Given the description of an element on the screen output the (x, y) to click on. 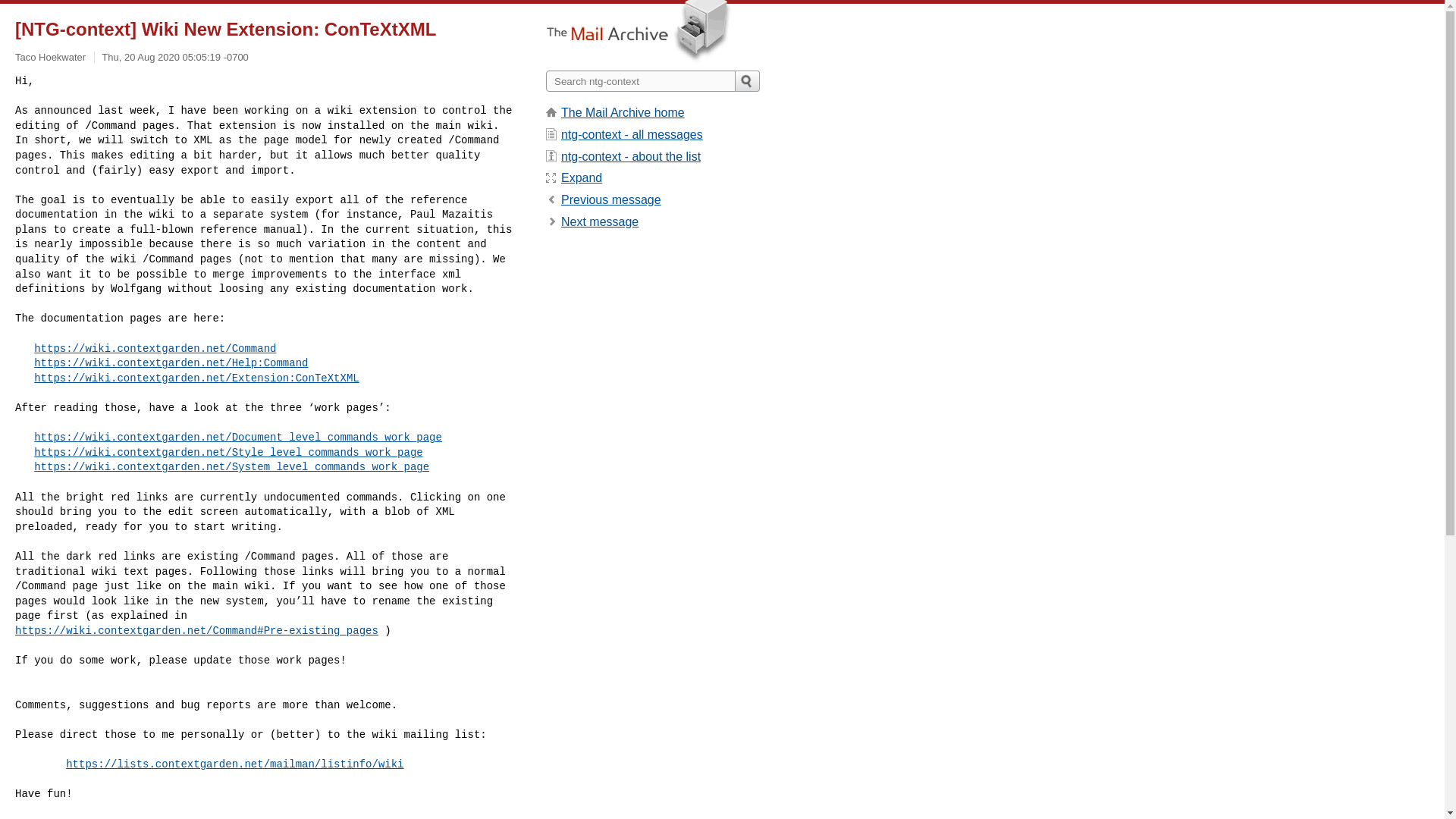
Expand (581, 177)
p (610, 199)
Thu, 20 Aug 2020 05:05:19 -0700 (174, 57)
n (599, 221)
Taco Hoekwater (49, 57)
The Mail Archive home (622, 112)
Next message (599, 221)
ntg-context - about the list (630, 155)
ntg-context - all messages (631, 133)
Previous message (610, 199)
e (581, 177)
